Given the description of an element on the screen output the (x, y) to click on. 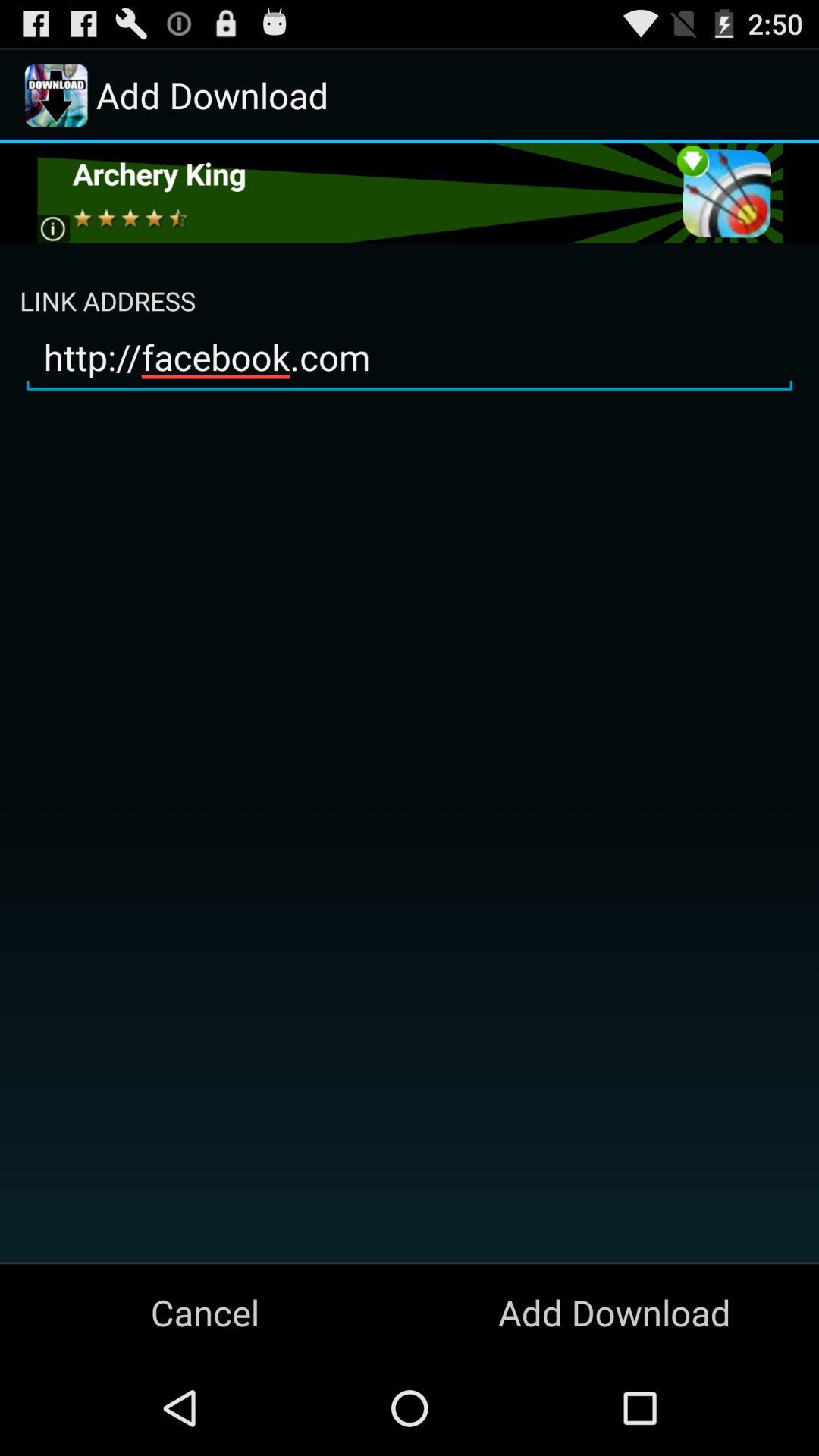
star (408, 192)
